Given the description of an element on the screen output the (x, y) to click on. 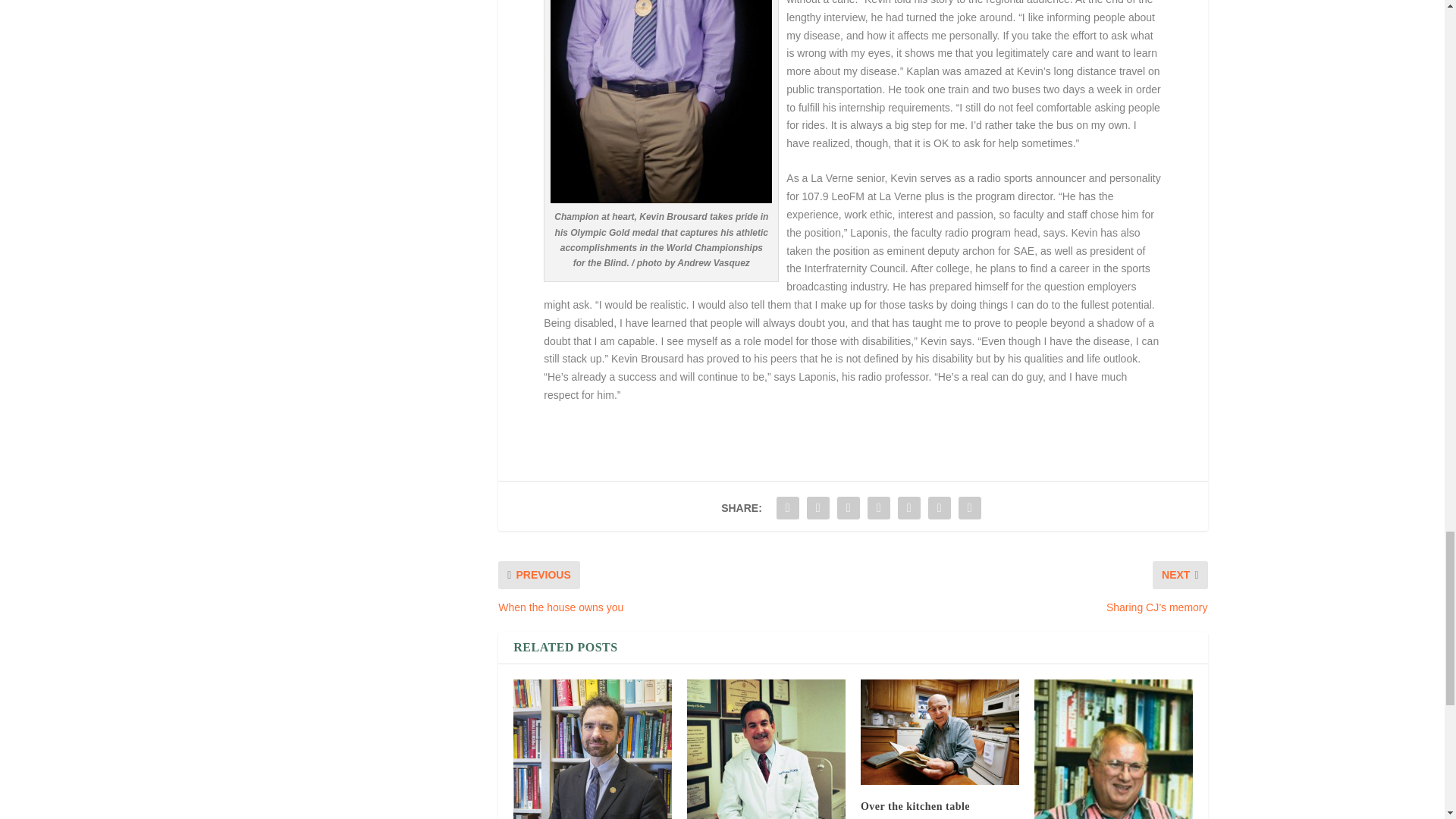
Vietnam Veteran Finds Purpose Through History (1112, 749)
Over the kitchen table (939, 731)
Over the kitchen table (914, 806)
A passion for diplomacy and democracy (592, 749)
